Given the description of an element on the screen output the (x, y) to click on. 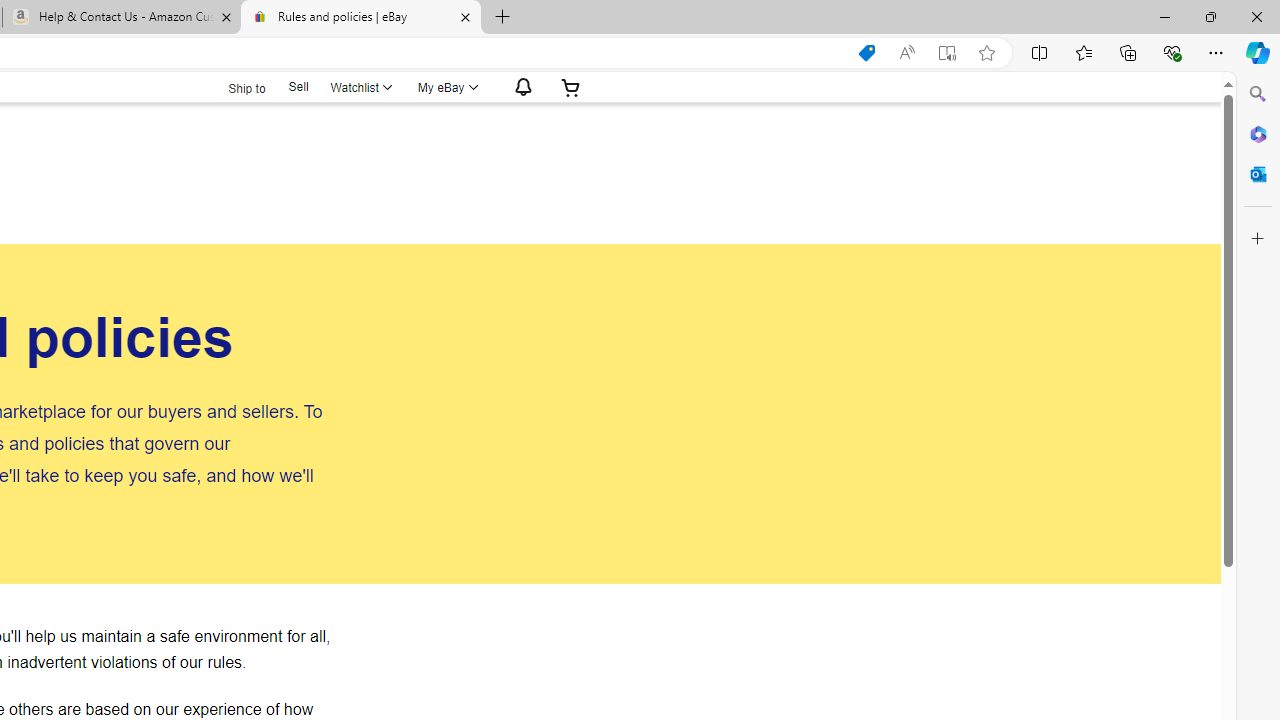
AutomationID: gh-eb-Alerts (520, 87)
Expand Cart (570, 87)
Ship to (234, 88)
My eBayExpand My eBay (445, 87)
This site has coupons! Shopping in Microsoft Edge (867, 53)
